Given the description of an element on the screen output the (x, y) to click on. 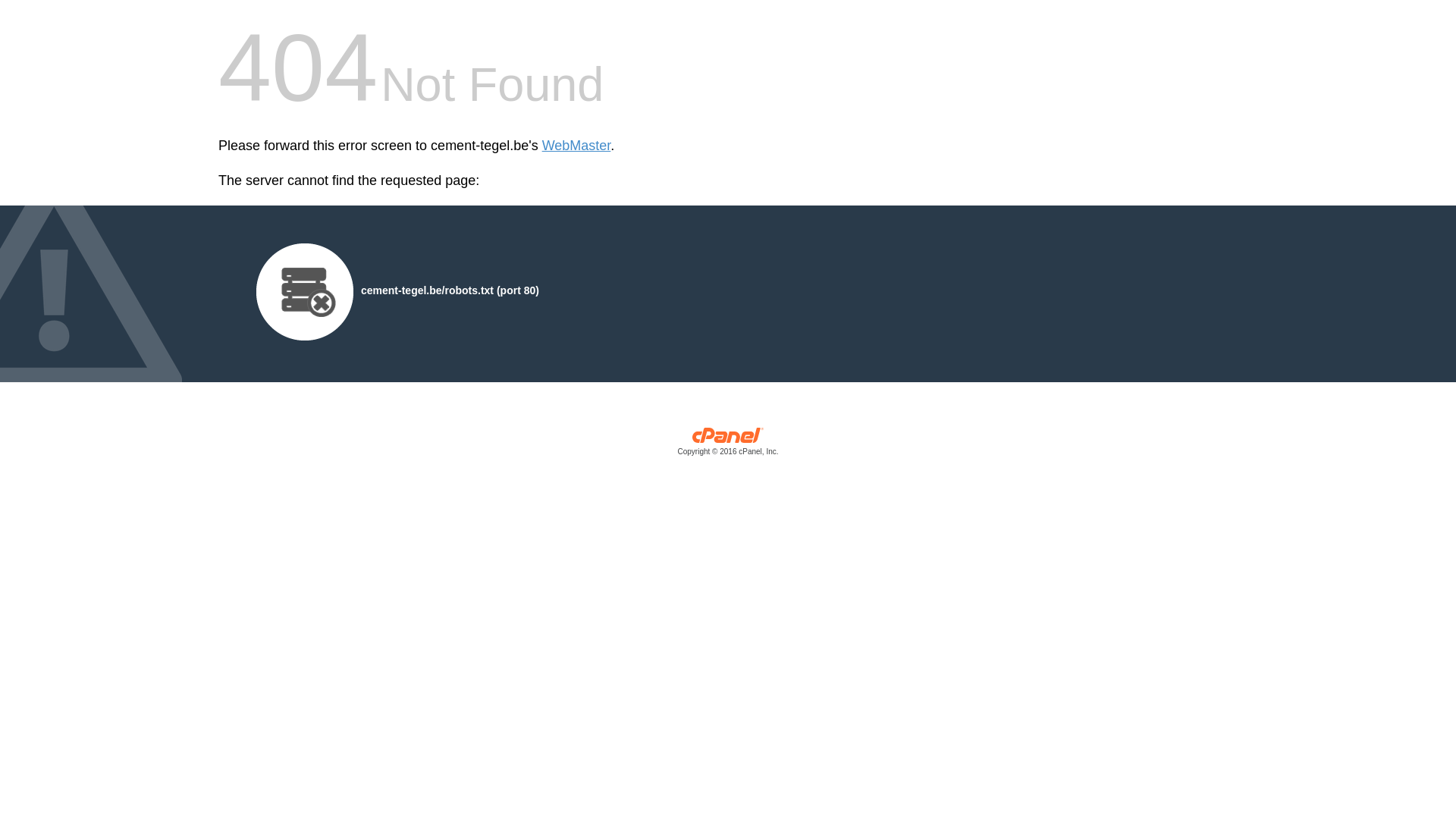
WebMaster Element type: text (576, 145)
